Given the description of an element on the screen output the (x, y) to click on. 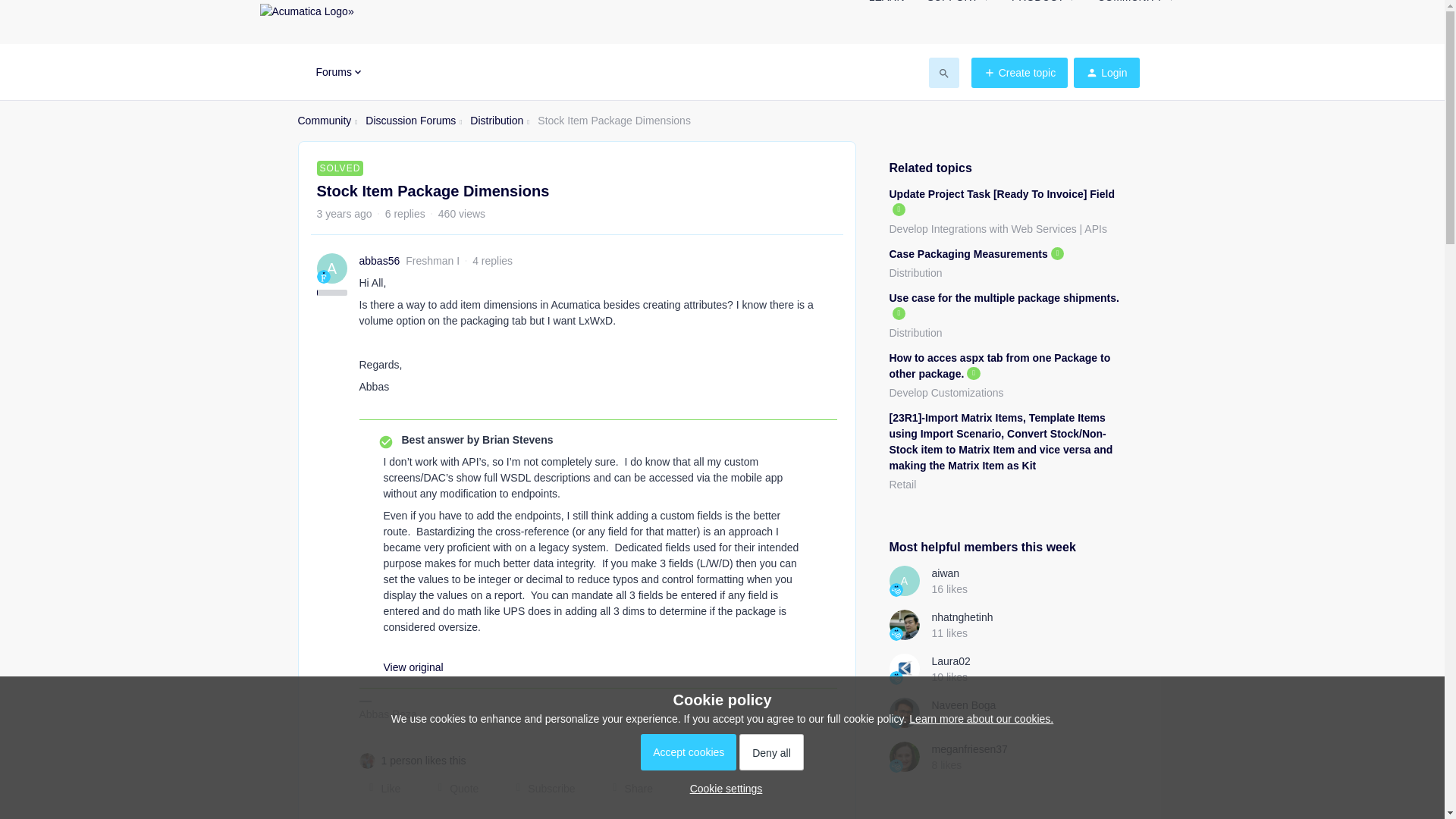
COMMUNITY (1135, 6)
Forums (338, 71)
PRODUCT (1042, 6)
SUPPORT (957, 6)
LEARN (886, 6)
